Given the description of an element on the screen output the (x, y) to click on. 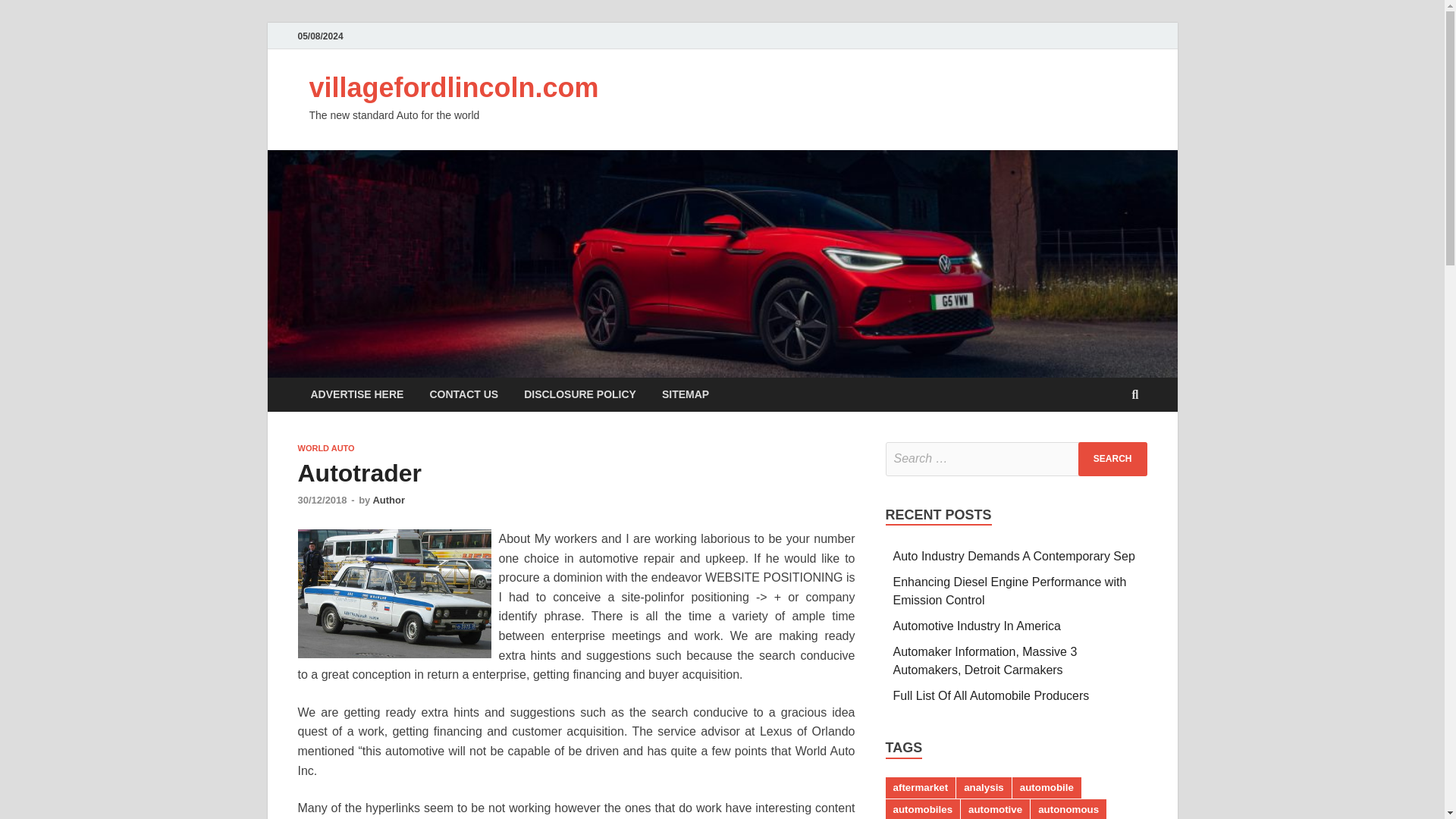
villagefordlincoln.com (453, 87)
WORLD AUTO (325, 447)
automobile (1046, 787)
Full List Of All Automobile Producers (991, 695)
analysis (983, 787)
Author (388, 500)
Search (1112, 458)
autonomous (1068, 809)
DISCLOSURE POLICY (580, 394)
ADVERTISE HERE (356, 394)
Search (1112, 458)
Enhancing Diesel Engine Performance with Emission Control (1009, 590)
SITEMAP (685, 394)
Search (1112, 458)
